Given the description of an element on the screen output the (x, y) to click on. 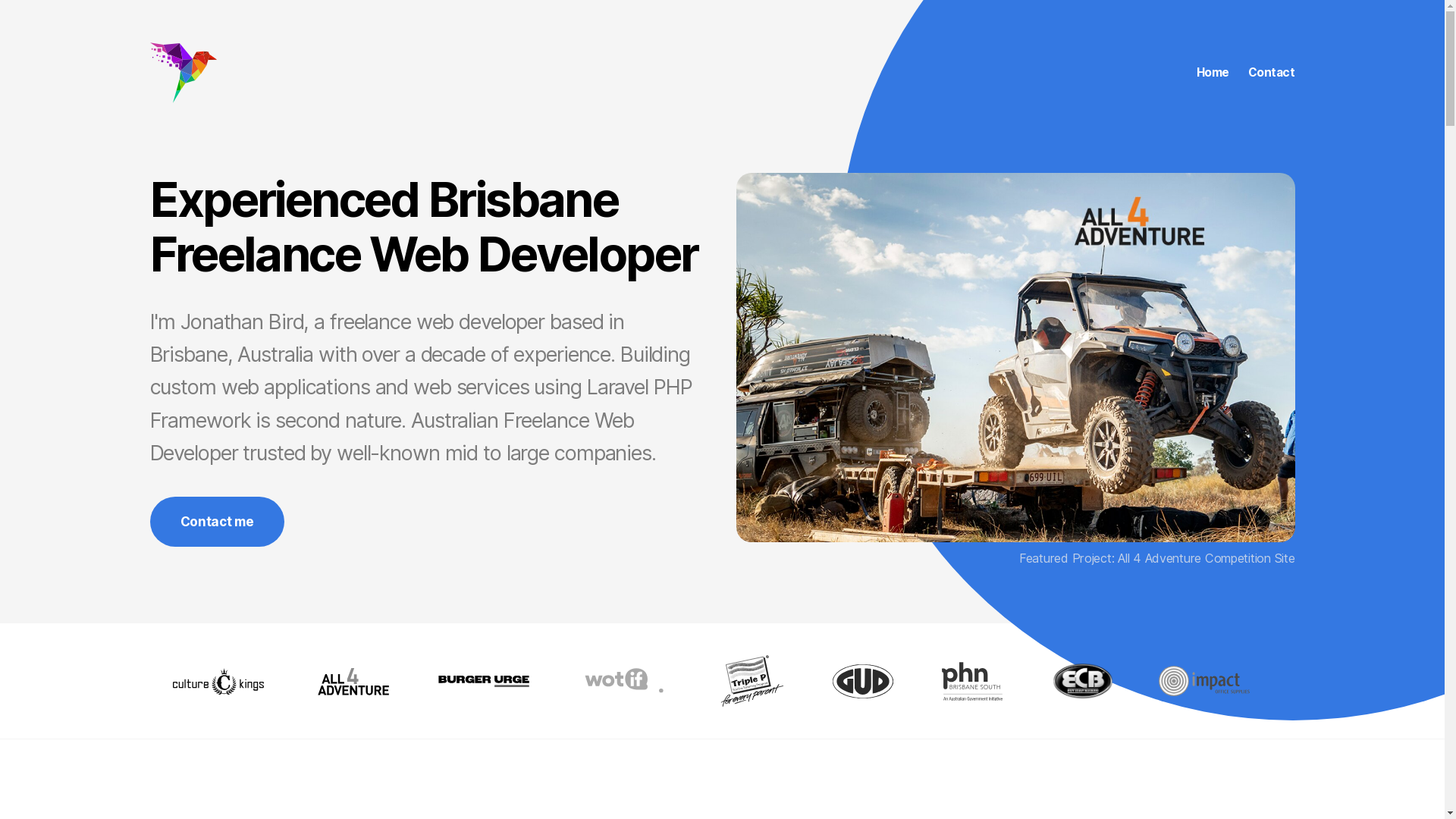
Home Element type: text (1212, 72)
Contact me Element type: text (217, 521)
Contact Element type: text (1271, 72)
